Given the description of an element on the screen output the (x, y) to click on. 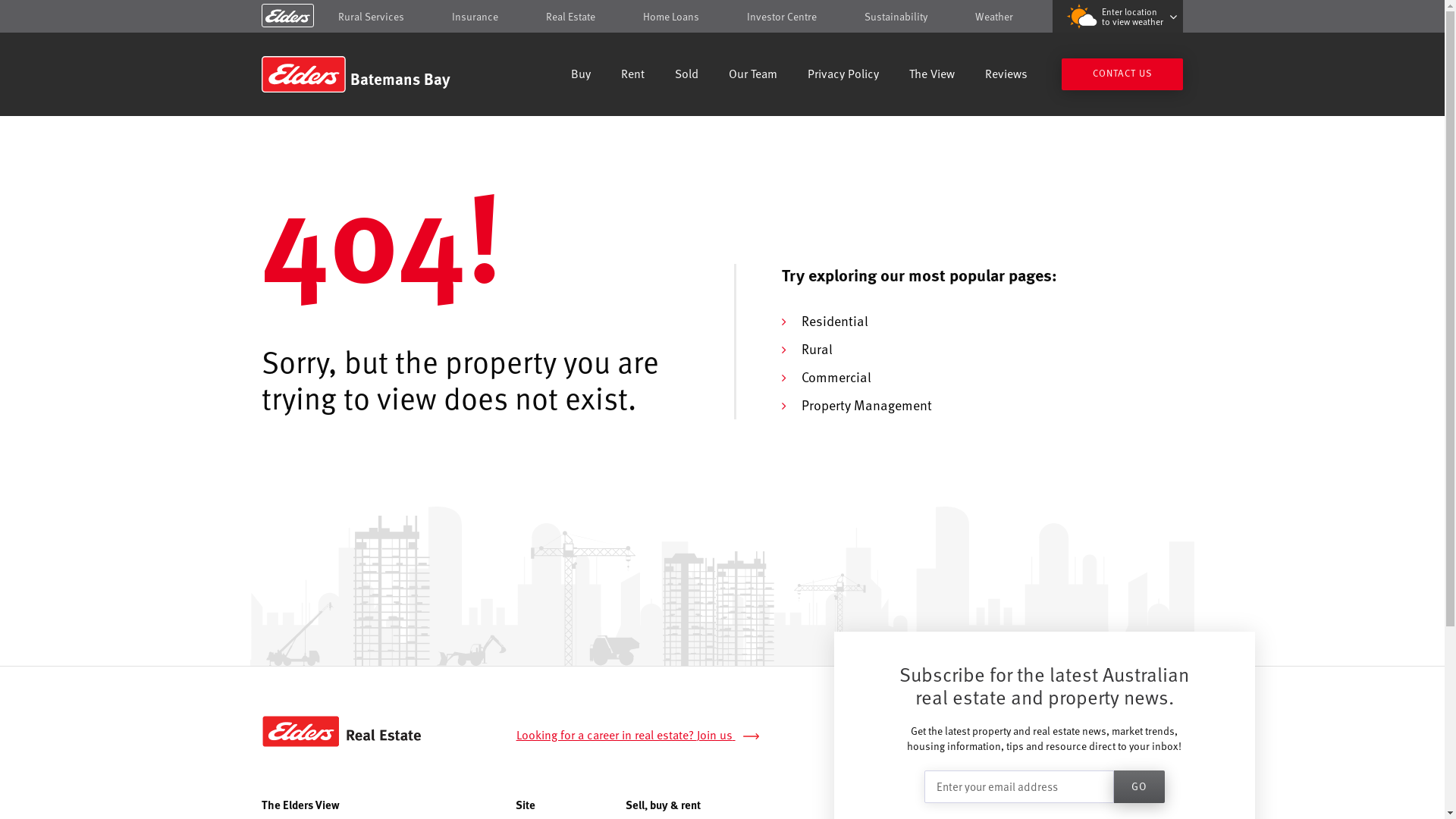
Insurance Element type: text (474, 16)
Privacy Policy Element type: text (842, 75)
Looking for a career in real estate? Join us Element type: text (645, 734)
Residential Element type: text (833, 320)
Buy Element type: text (580, 75)
Batemans Bay Element type: text (369, 74)
Rural Services Element type: text (371, 16)
Reviews Element type: text (1006, 75)
Sustainability Element type: text (895, 16)
Commercial Element type: text (835, 376)
The View Element type: text (931, 75)
Sold Element type: text (686, 75)
Enter location to view weather Element type: text (1117, 16)
Investor Centre Element type: text (781, 16)
CONTACT US Element type: text (1122, 74)
Rent Element type: text (632, 75)
Skip to content Element type: text (722, 17)
Rural Element type: text (815, 348)
Weather Element type: text (994, 16)
Our Team Element type: text (752, 75)
Go Element type: text (1138, 786)
Home Loans Element type: text (671, 16)
Real Estate Element type: text (570, 16)
Property Management Element type: text (865, 404)
